Given the description of an element on the screen output the (x, y) to click on. 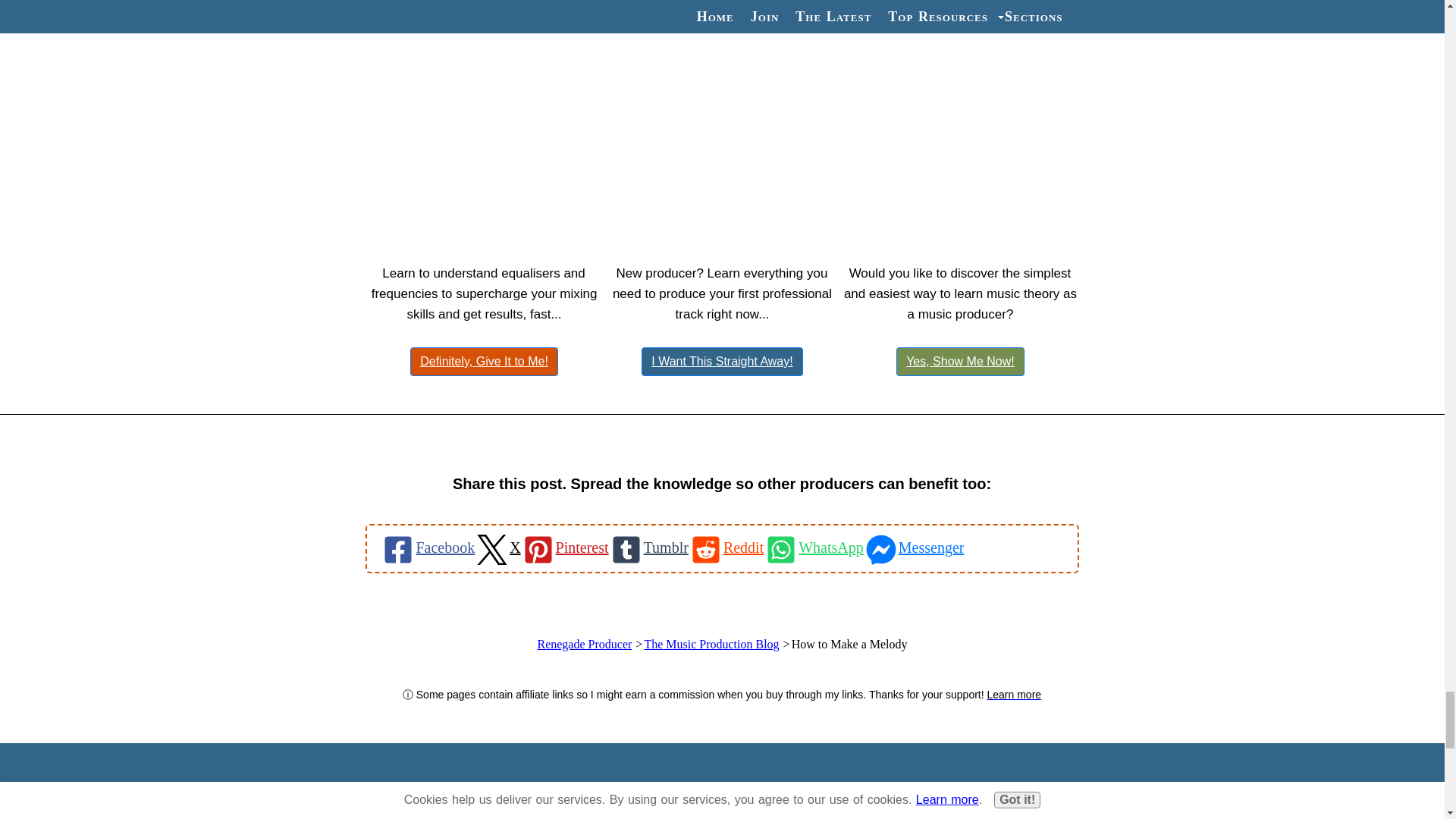
start-develop-1 (721, 811)
X (496, 548)
The Music Production Blog (710, 644)
Messenger (913, 548)
Facebook (427, 548)
Yes, Show Me Now! (960, 361)
Definitely, Give It to Me! (483, 361)
I Want This Straight Away! (722, 361)
